Given the description of an element on the screen output the (x, y) to click on. 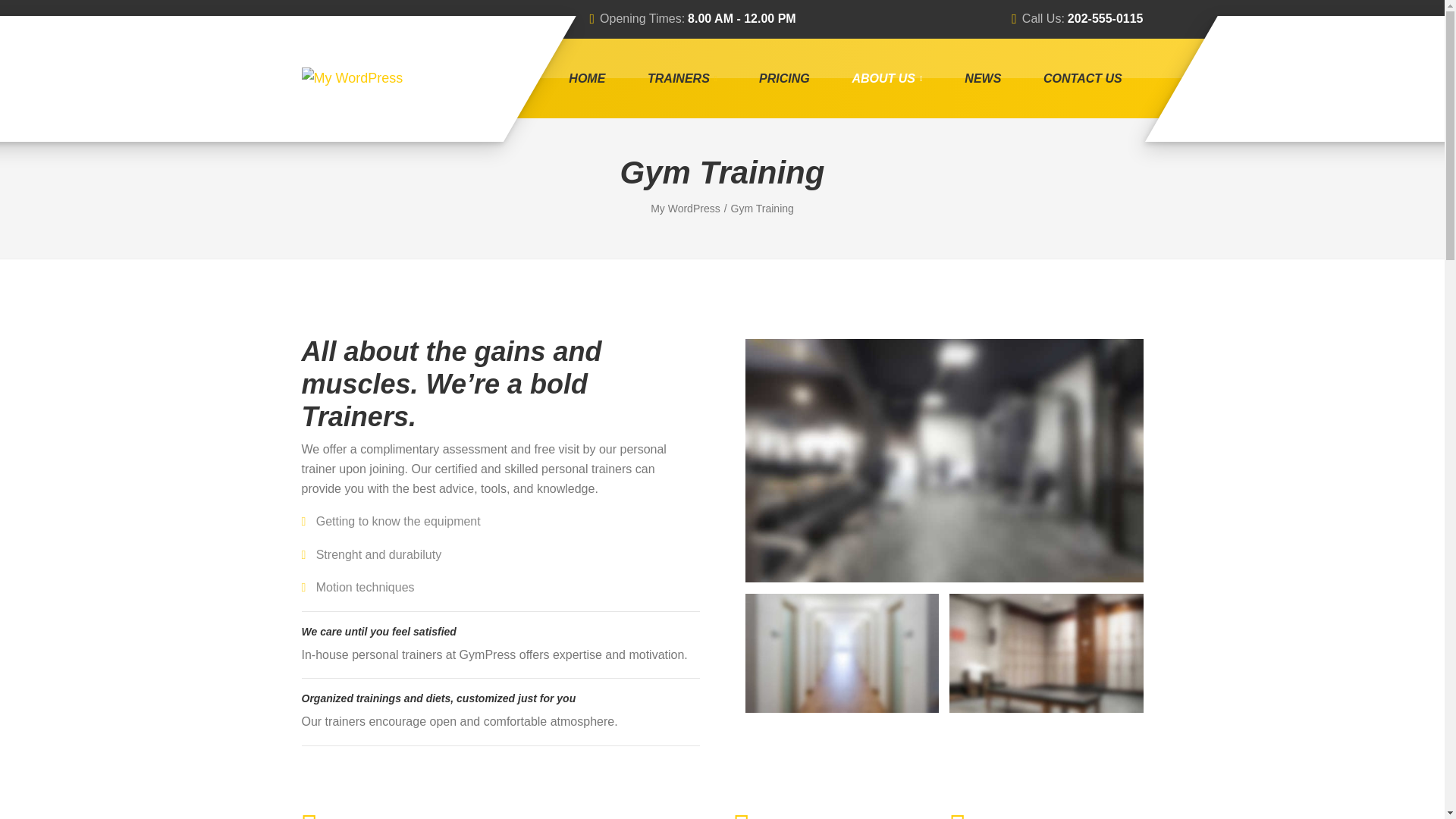
Gym Training (761, 208)
PRICING (783, 78)
ABOUT US (887, 78)
Go to Gym Training. (761, 208)
My WordPress (690, 208)
CONTACT US (1082, 78)
Go to My WordPress. (690, 208)
HOME (587, 78)
TRAINERS (682, 78)
NEWS (982, 78)
